Given the description of an element on the screen output the (x, y) to click on. 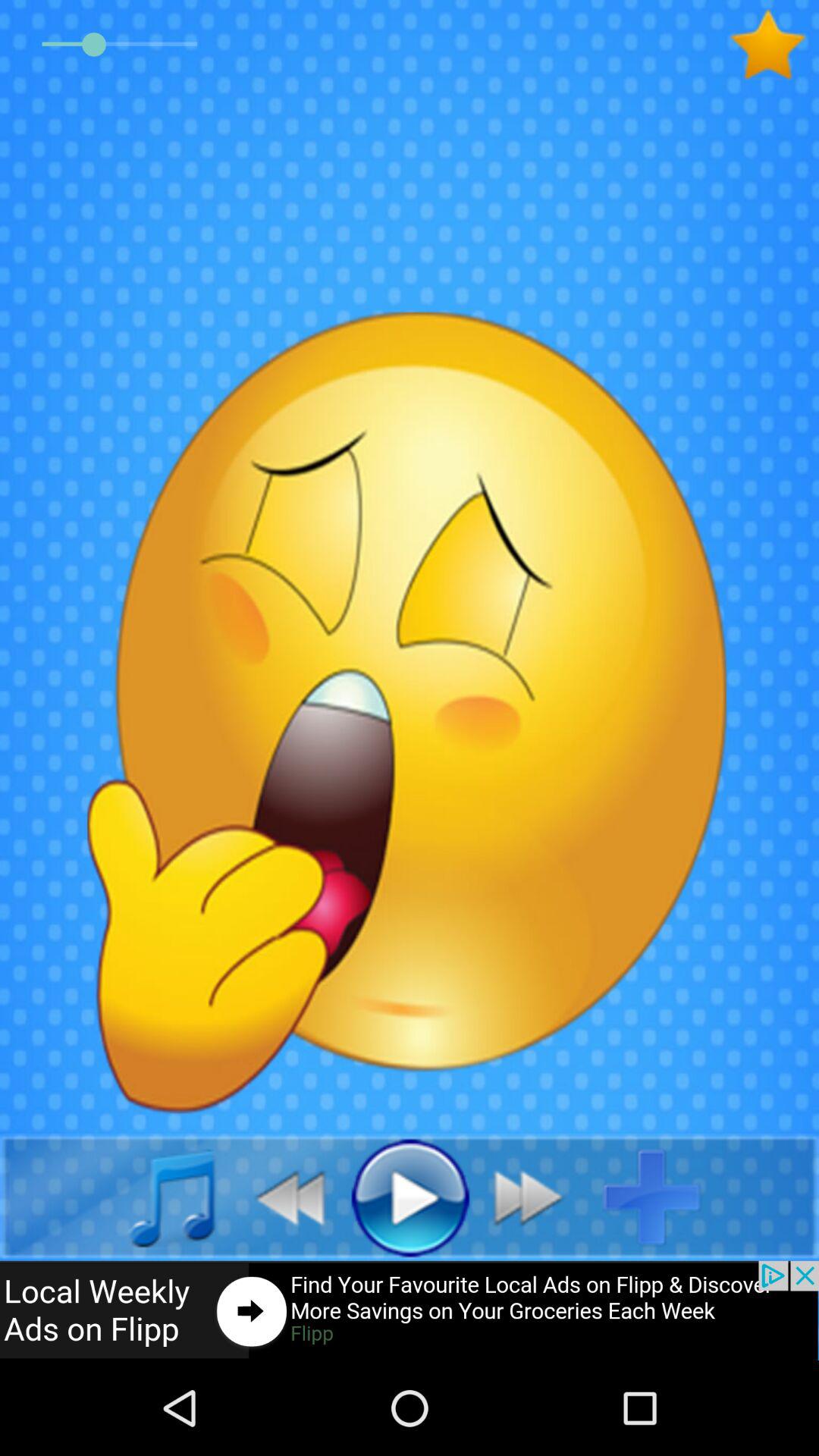
go forward (536, 1196)
